Given the description of an element on the screen output the (x, y) to click on. 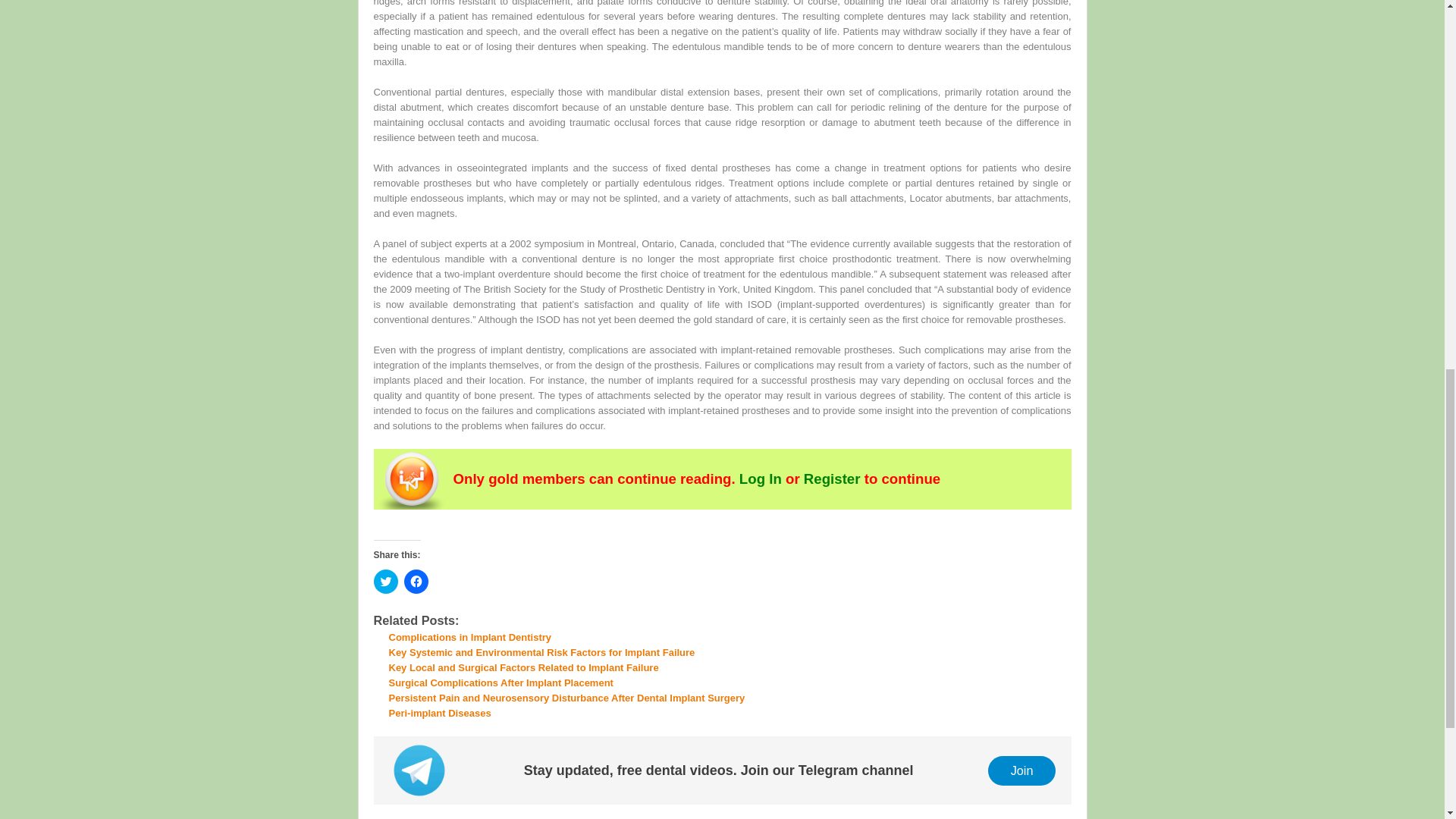
Complications in Implant Dentistry (469, 636)
Surgical Complications After Implant Placement (500, 682)
Click to share on Facebook (415, 581)
Peri-implant Diseases (439, 713)
Click to share on Twitter (384, 581)
Key Local and Surgical Factors Related to Implant Failure (523, 667)
